Given the description of an element on the screen output the (x, y) to click on. 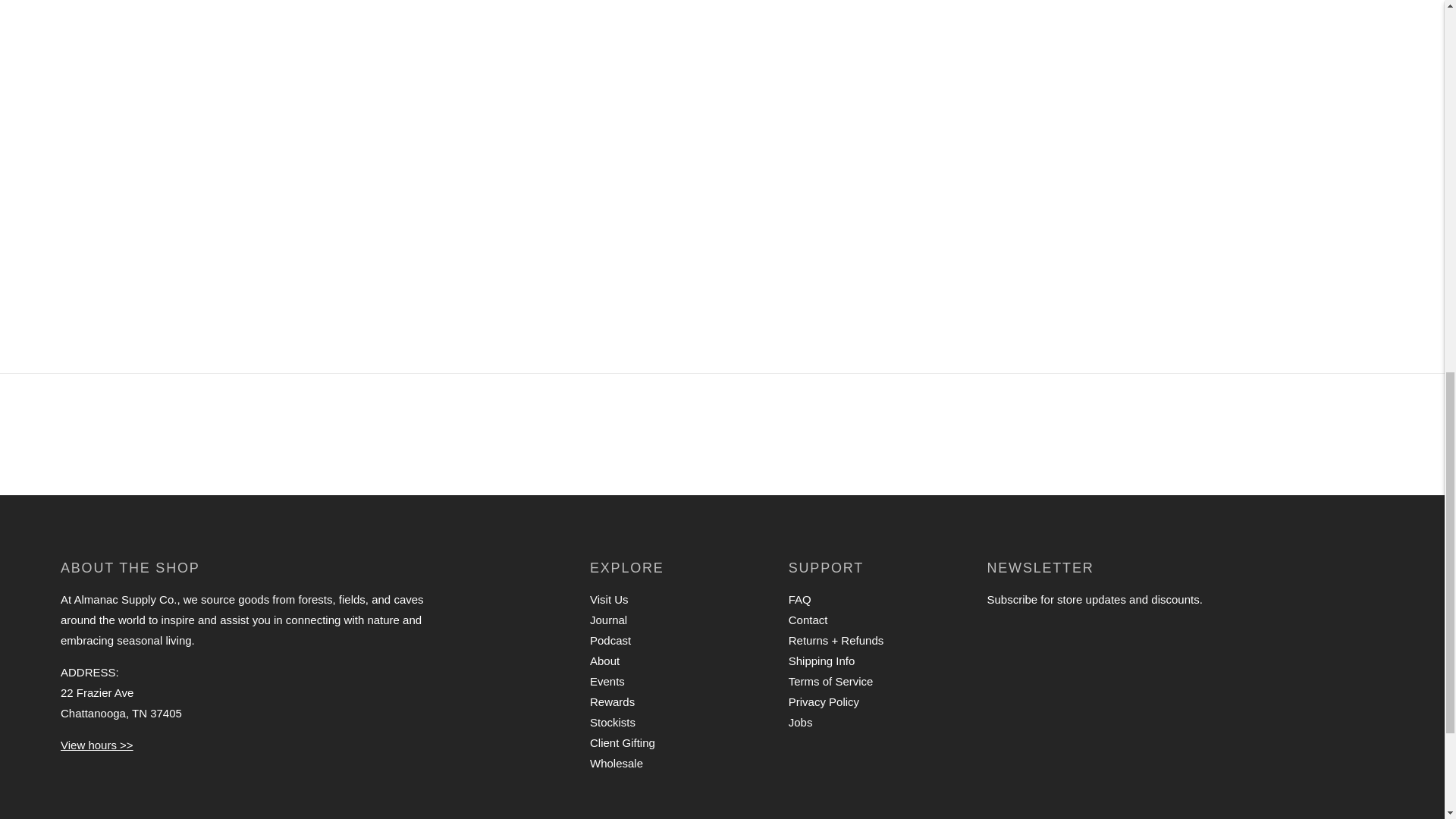
Visit (97, 744)
